Given the description of an element on the screen output the (x, y) to click on. 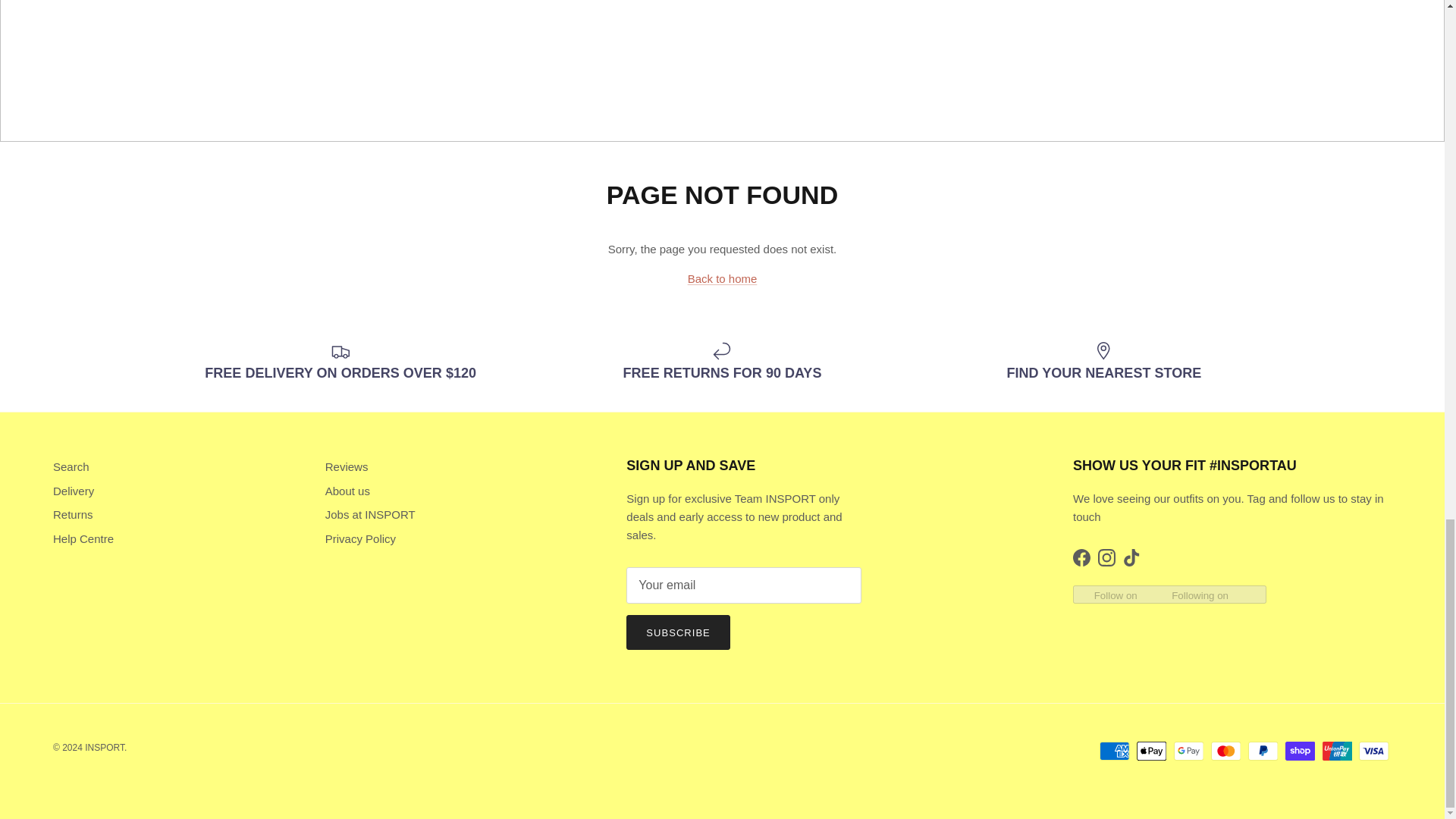
PayPal (1262, 751)
Shop Pay (1299, 751)
American Express (1114, 751)
Mastercard (1225, 751)
INSPORT on Facebook (1081, 557)
Apple Pay (1151, 751)
Visa (1373, 751)
INSPORT on Instagram (1106, 557)
Google Pay (1188, 751)
INSPORT on TikTok (1131, 557)
